Given the description of an element on the screen output the (x, y) to click on. 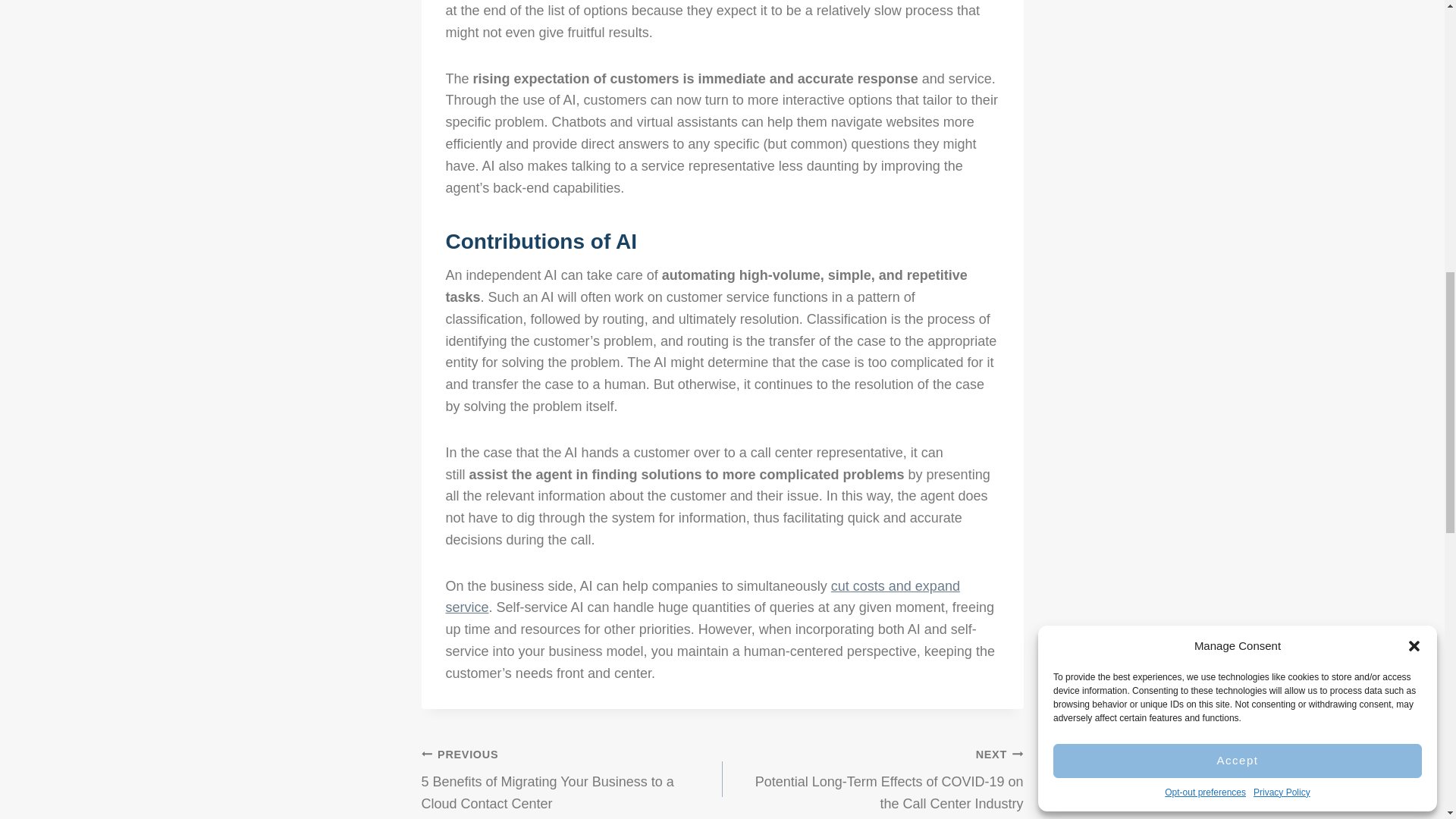
cut costs and expand service (702, 596)
